Given the description of an element on the screen output the (x, y) to click on. 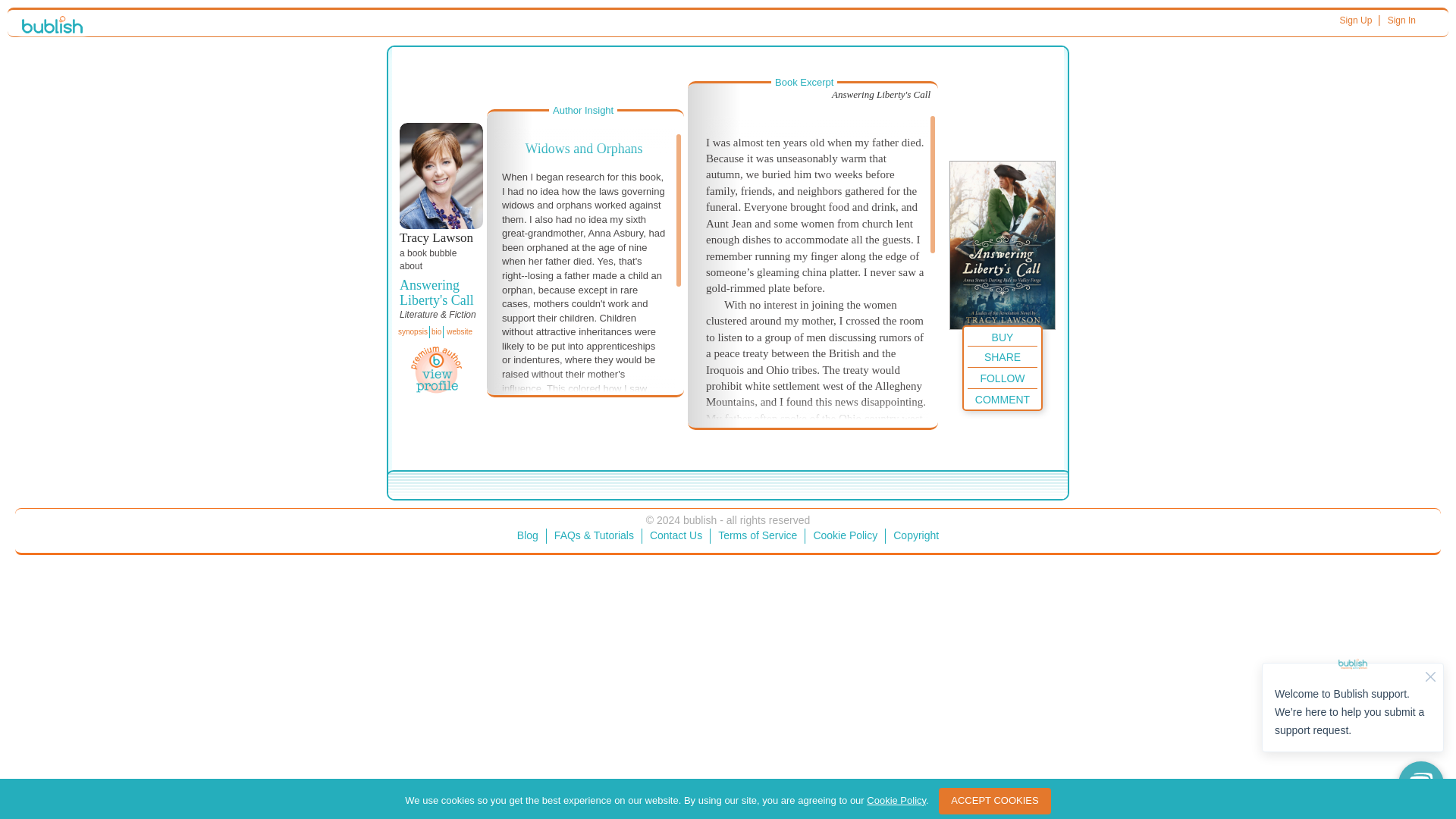
synopsis (412, 331)
website (459, 331)
COMMENT (1002, 398)
Sign In (1401, 20)
SHARE (1002, 355)
FOLLOW (1002, 376)
Sign Up (1356, 20)
BUY (1002, 335)
bio (435, 331)
